Given the description of an element on the screen output the (x, y) to click on. 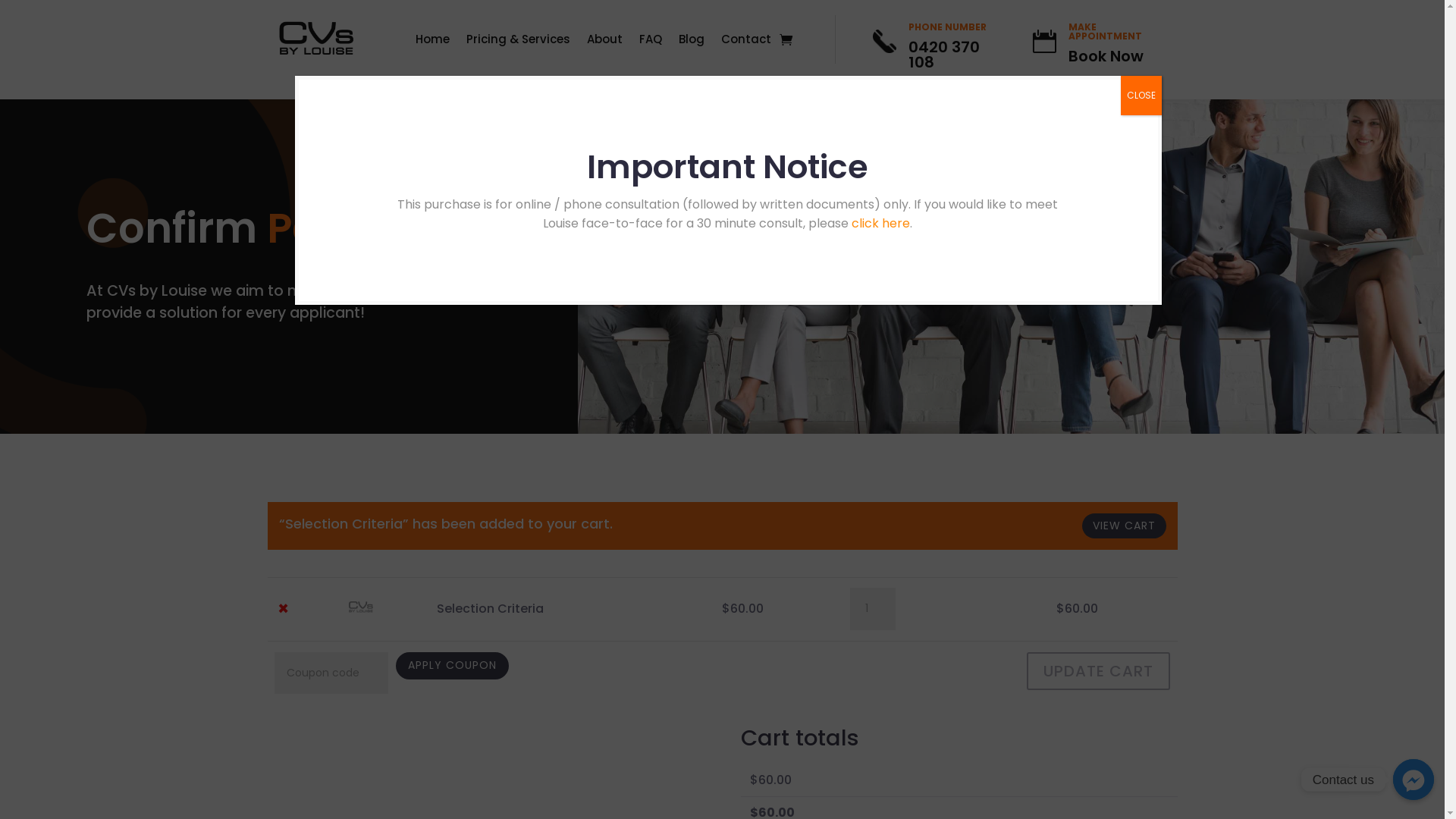
Home Element type: text (432, 42)
Pricing & Services Element type: text (518, 42)
CLOSE Element type: text (1140, 95)
CVs-by-Louise-logo-web Element type: hover (316, 38)
click here Element type: text (880, 223)
Blog Element type: text (691, 42)
Contact us Element type: text (1413, 779)
VIEW CART Element type: text (1123, 525)
APPLY COUPON Element type: text (451, 665)
UPDATE CART Element type: text (1098, 671)
Contact Element type: text (746, 42)
About Element type: text (604, 42)
FAQ Element type: text (650, 42)
